Given the description of an element on the screen output the (x, y) to click on. 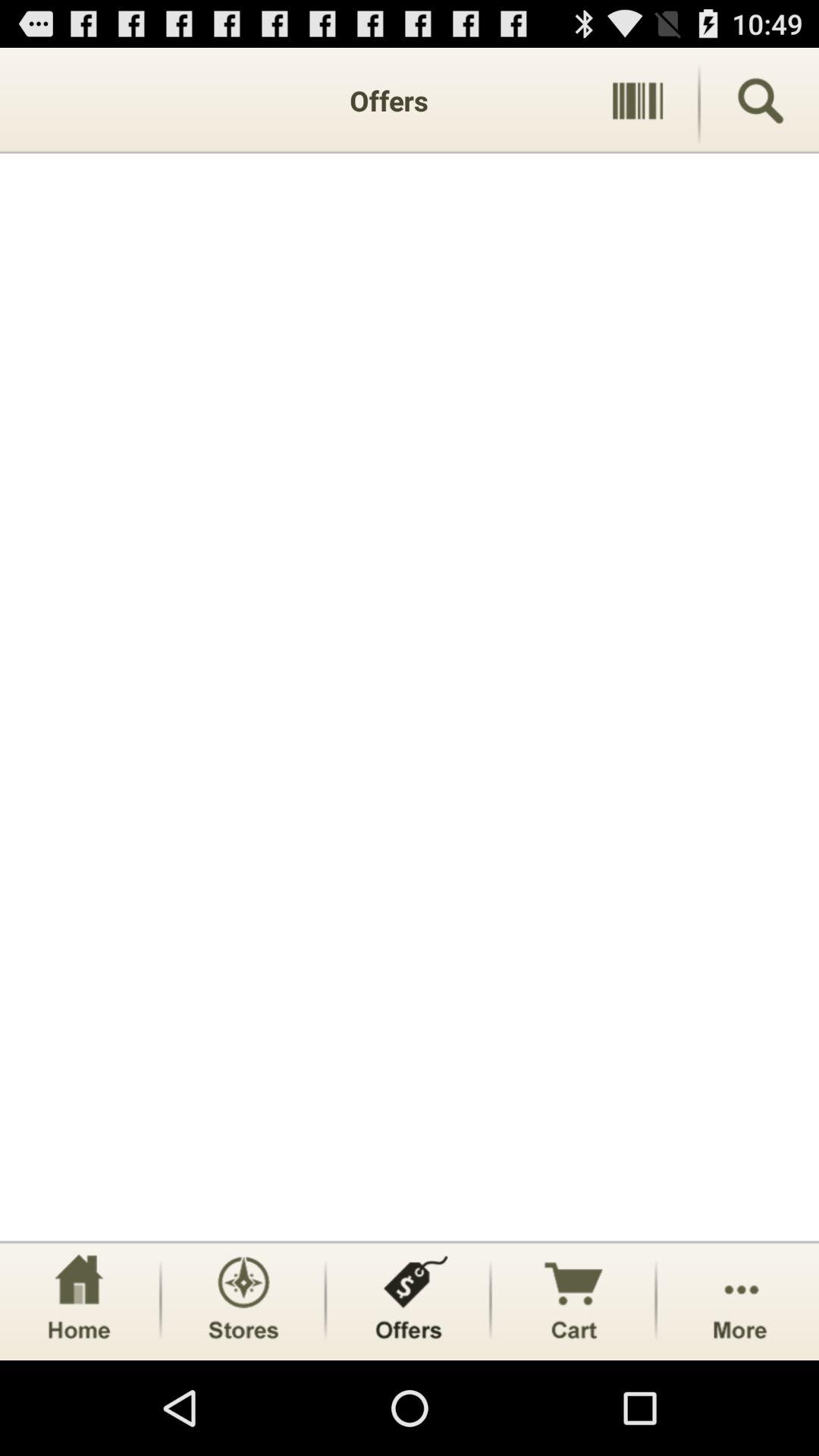
tap item to the right of the offers item (637, 100)
